Given the description of an element on the screen output the (x, y) to click on. 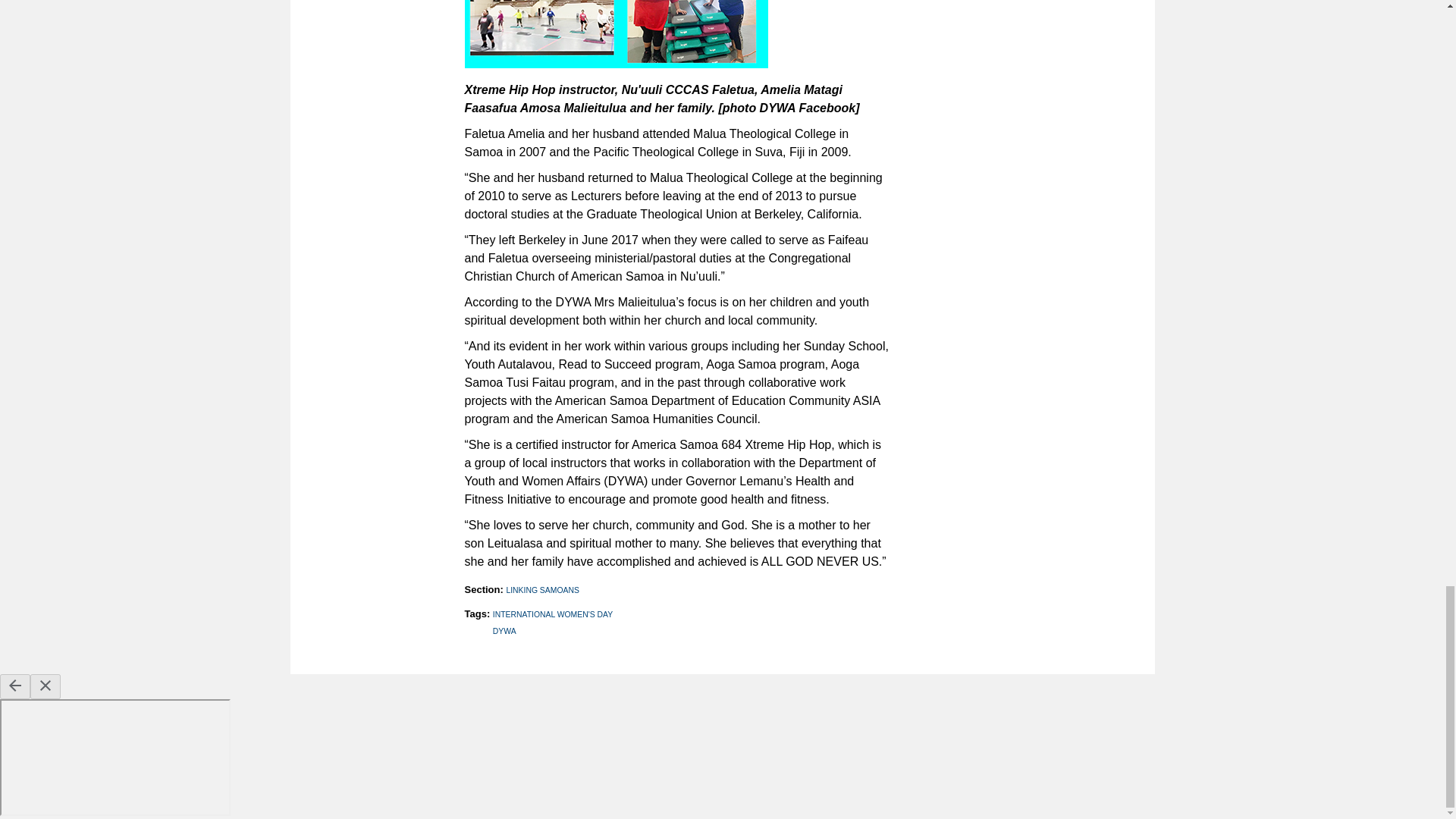
LINKING SAMOANS (541, 590)
INTERNATIONAL WOMEN'S DAY (552, 614)
DYWA (504, 631)
